Given the description of an element on the screen output the (x, y) to click on. 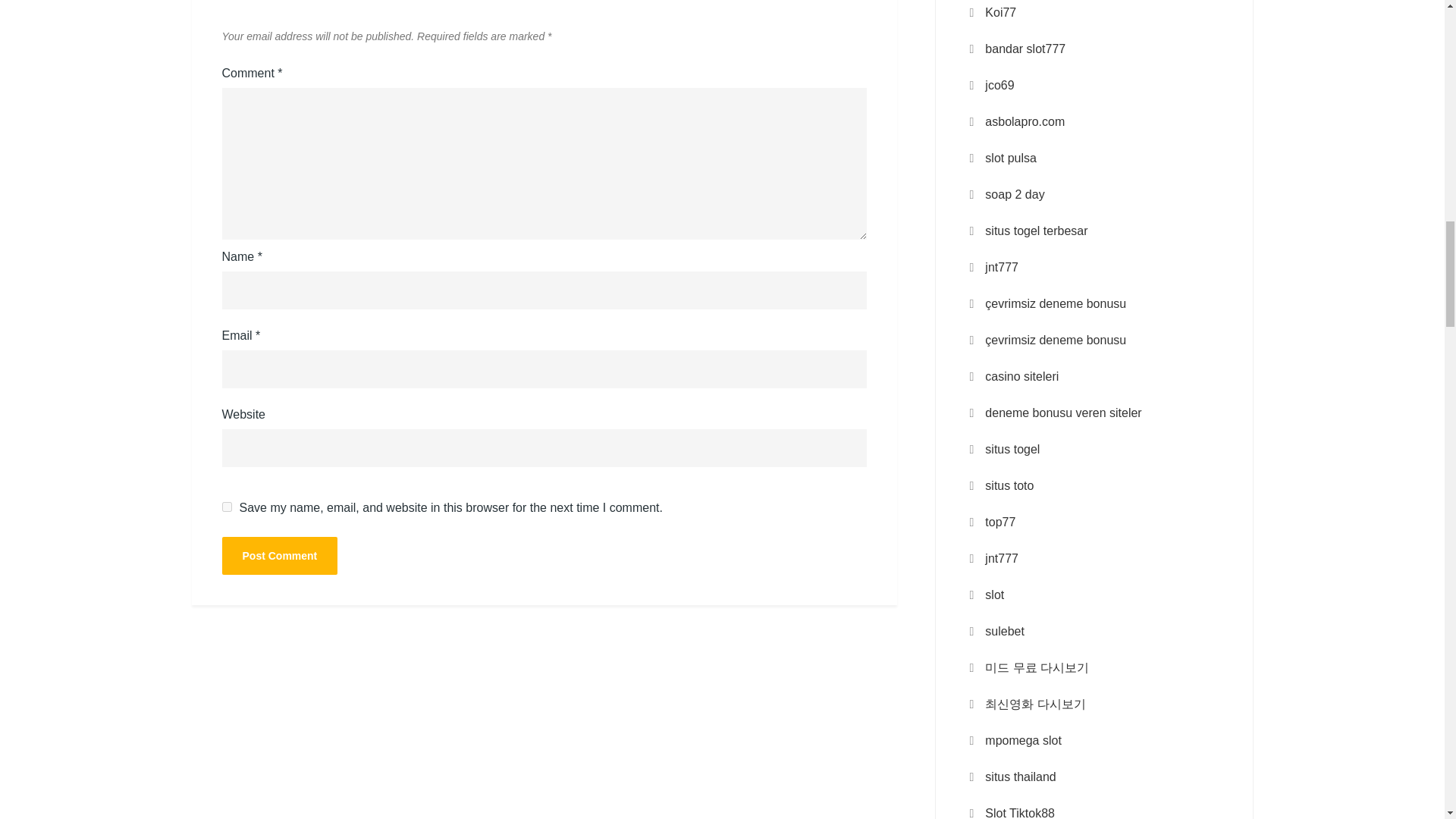
yes (226, 506)
Post Comment (279, 555)
Post Comment (279, 555)
Koi77 (1000, 12)
